Given the description of an element on the screen output the (x, y) to click on. 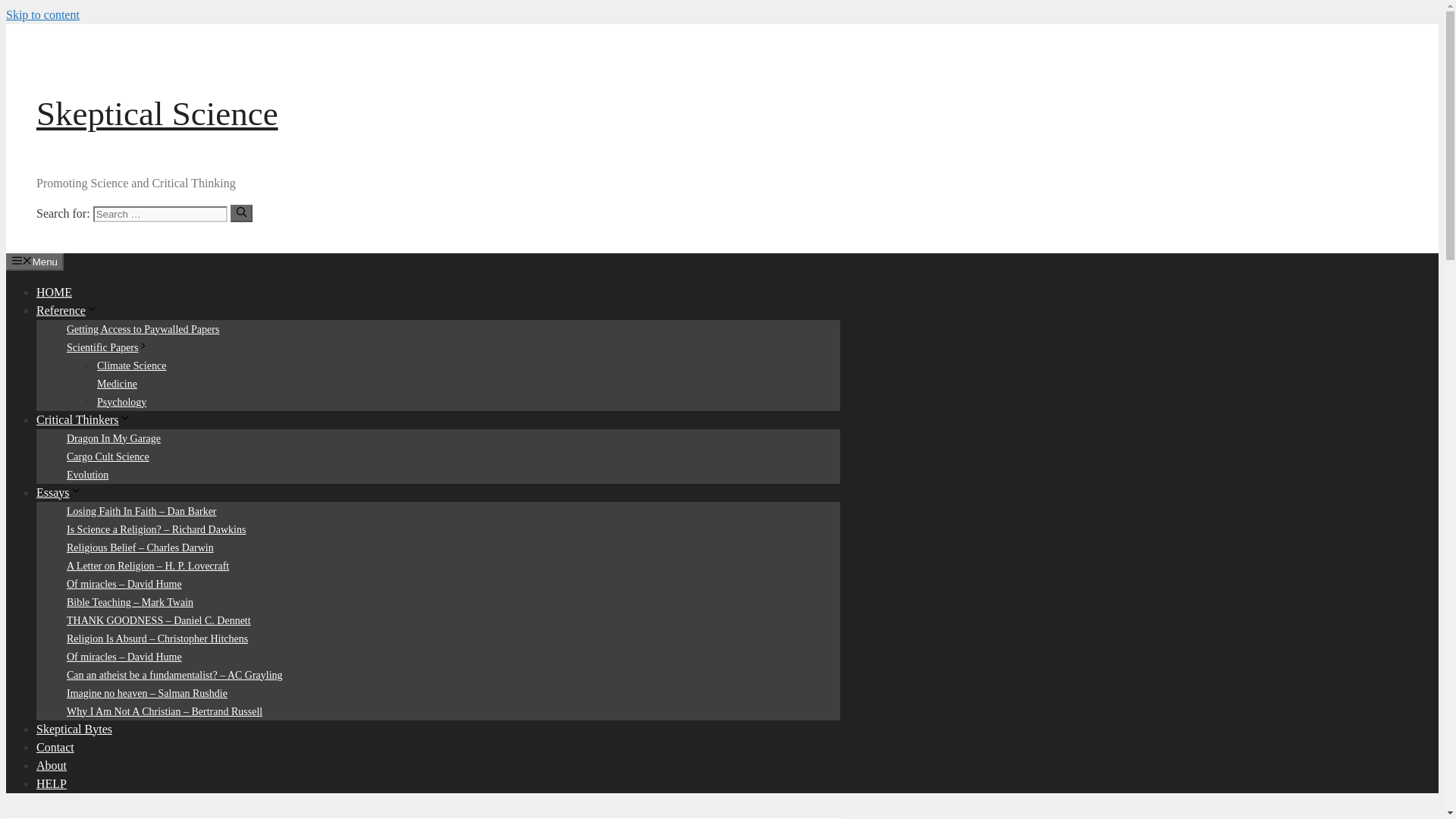
Skip to content (42, 14)
About (51, 764)
Skeptical Science (157, 113)
Skip to content (42, 14)
Dragon In My Garage (113, 437)
Essays (58, 491)
Scientific Papers (107, 346)
Evolution (86, 473)
Skeptical Bytes (74, 727)
Climate Science (131, 365)
Contact (55, 746)
Critical Thinkers (83, 418)
HELP (51, 782)
HOME (53, 291)
Menu (34, 261)
